Given the description of an element on the screen output the (x, y) to click on. 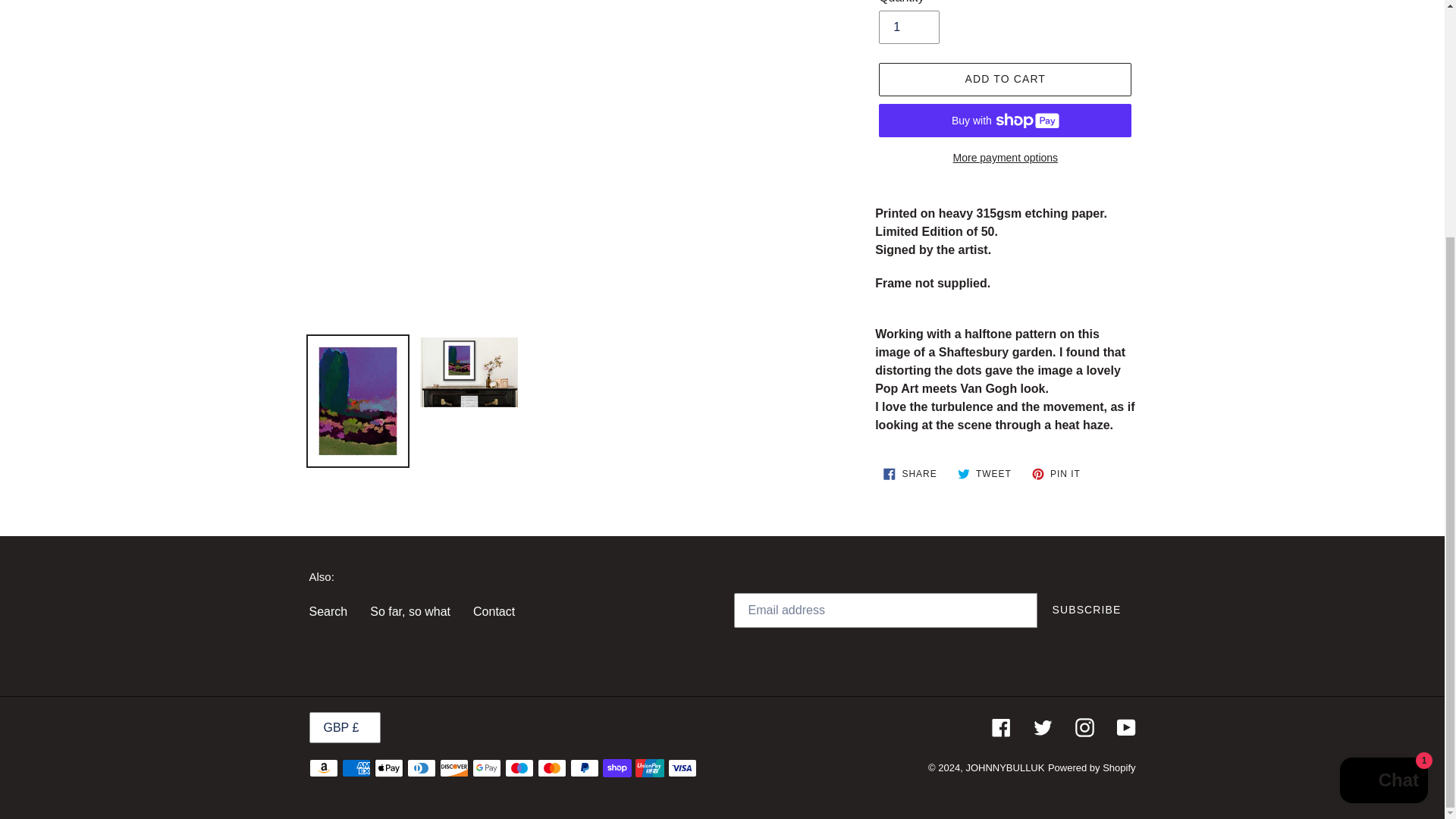
Shopify online store chat (1383, 457)
1 (909, 27)
